Given the description of an element on the screen output the (x, y) to click on. 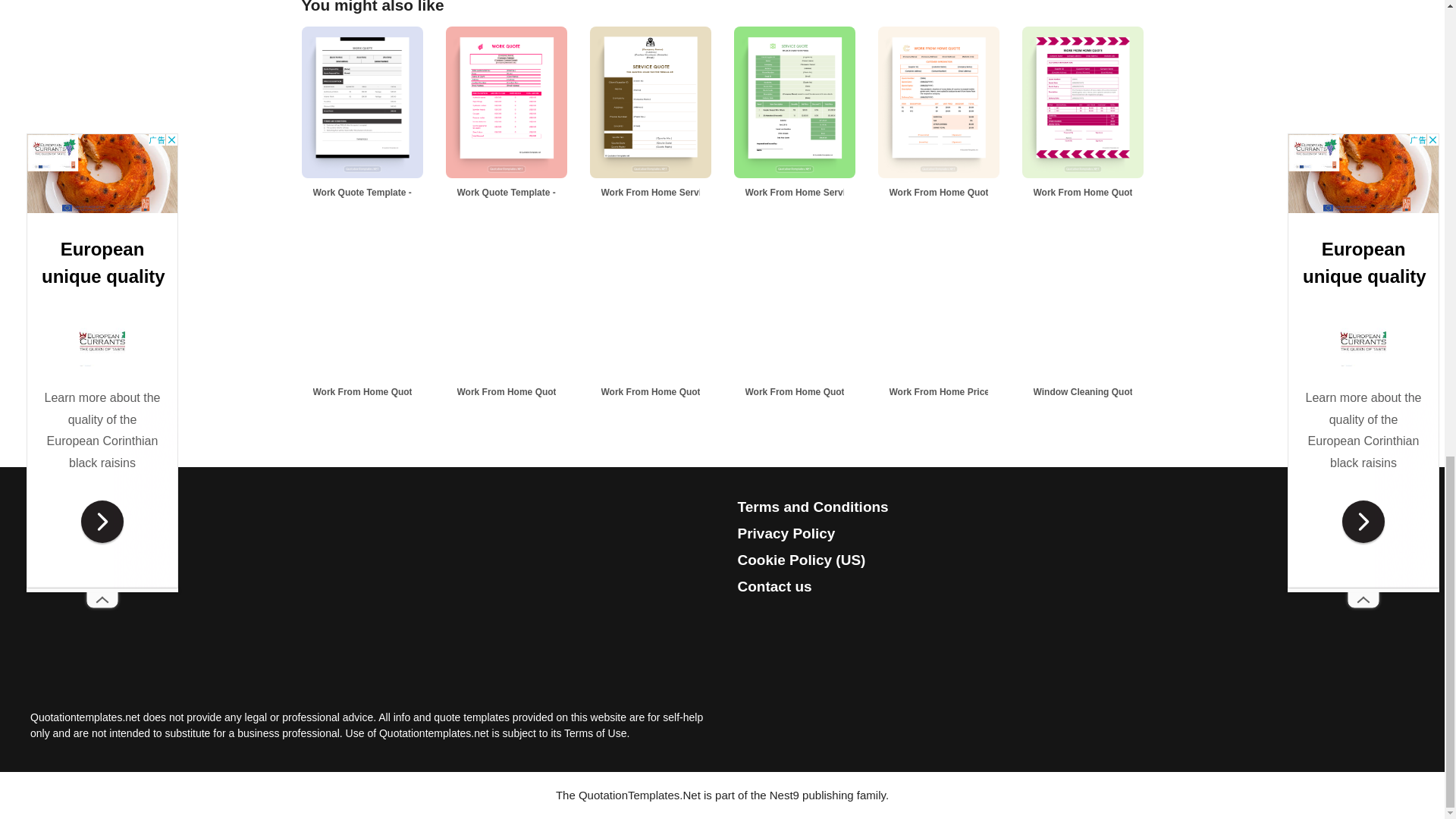
Window Cleaning Quote Template - RED (1110, 391)
Work From Home Quote Template - BLK (390, 391)
Work Quote Template - 220920 - PNK (534, 192)
Work From Home Quote Template - ORG (966, 192)
Work From Home Service Quote Template - 220921 - GRN (822, 192)
Work From Home Quote Template - DGRN - 220915 (822, 391)
Scroll back to top (1406, 501)
Work From Home Price Quote Template - 220922 - BRN (966, 391)
Work From Home Quote Template - MGA (1110, 192)
Work Quote Template - BLK (372, 192)
Work From Home Quote Template - 220920 - GRY (534, 391)
Work From Home Quote Template - GRN - 220915 (678, 391)
Work From Home Service Quote Template - DBRN - 220923 (678, 192)
